Given the description of an element on the screen output the (x, y) to click on. 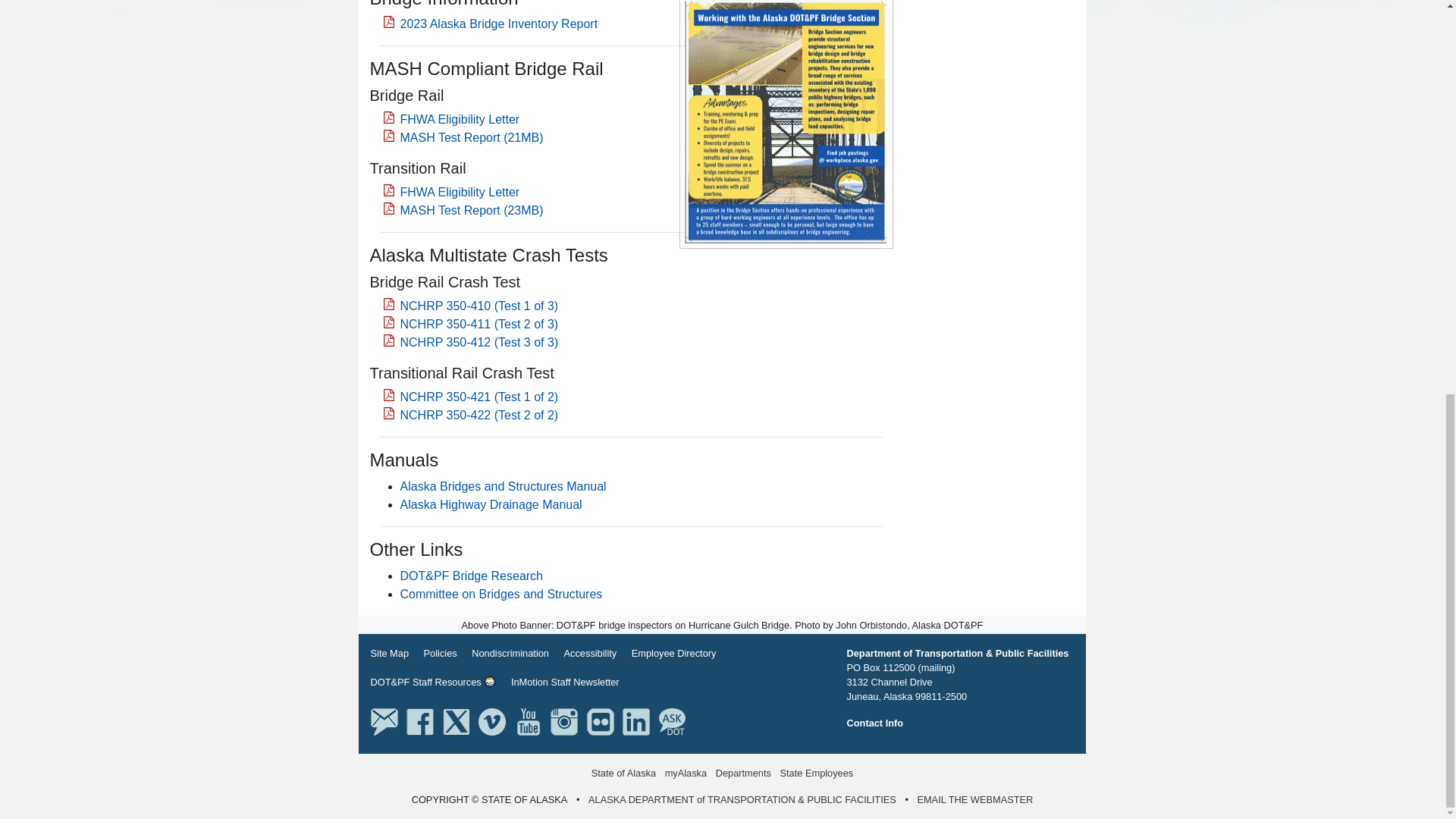
Ask a question or leave a message (672, 720)
LinkedIn (636, 720)
X formerly Twitter (456, 720)
Vimeo (492, 720)
PDF Document (631, 128)
Subscribe to News and Updates (383, 720)
Flickr (600, 720)
PDF Document (631, 24)
YouTube (528, 720)
PDF Document (631, 201)
Facebook (419, 720)
opens in new window (565, 681)
PDF Document (631, 324)
Instagram (563, 720)
PDF Document (631, 406)
